Given the description of an element on the screen output the (x, y) to click on. 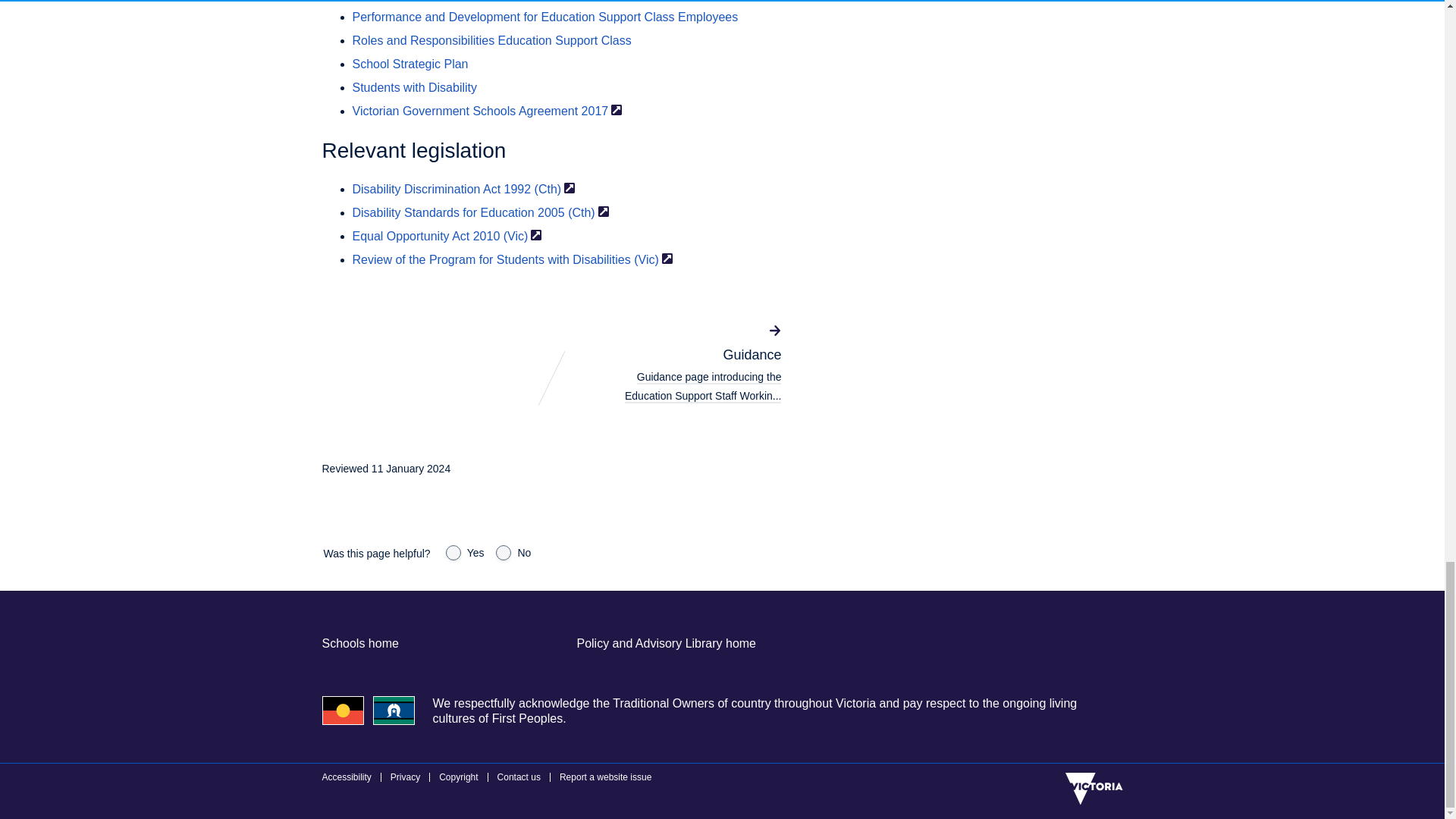
External Link (616, 109)
External Link (603, 211)
Yes (453, 552)
External Link (667, 258)
Schools home (359, 643)
External Link (569, 187)
External Link (536, 235)
Victorian Government Schools Agreement 2017External Link (486, 110)
Policy and Advisory Library home (665, 643)
